Given the description of an element on the screen output the (x, y) to click on. 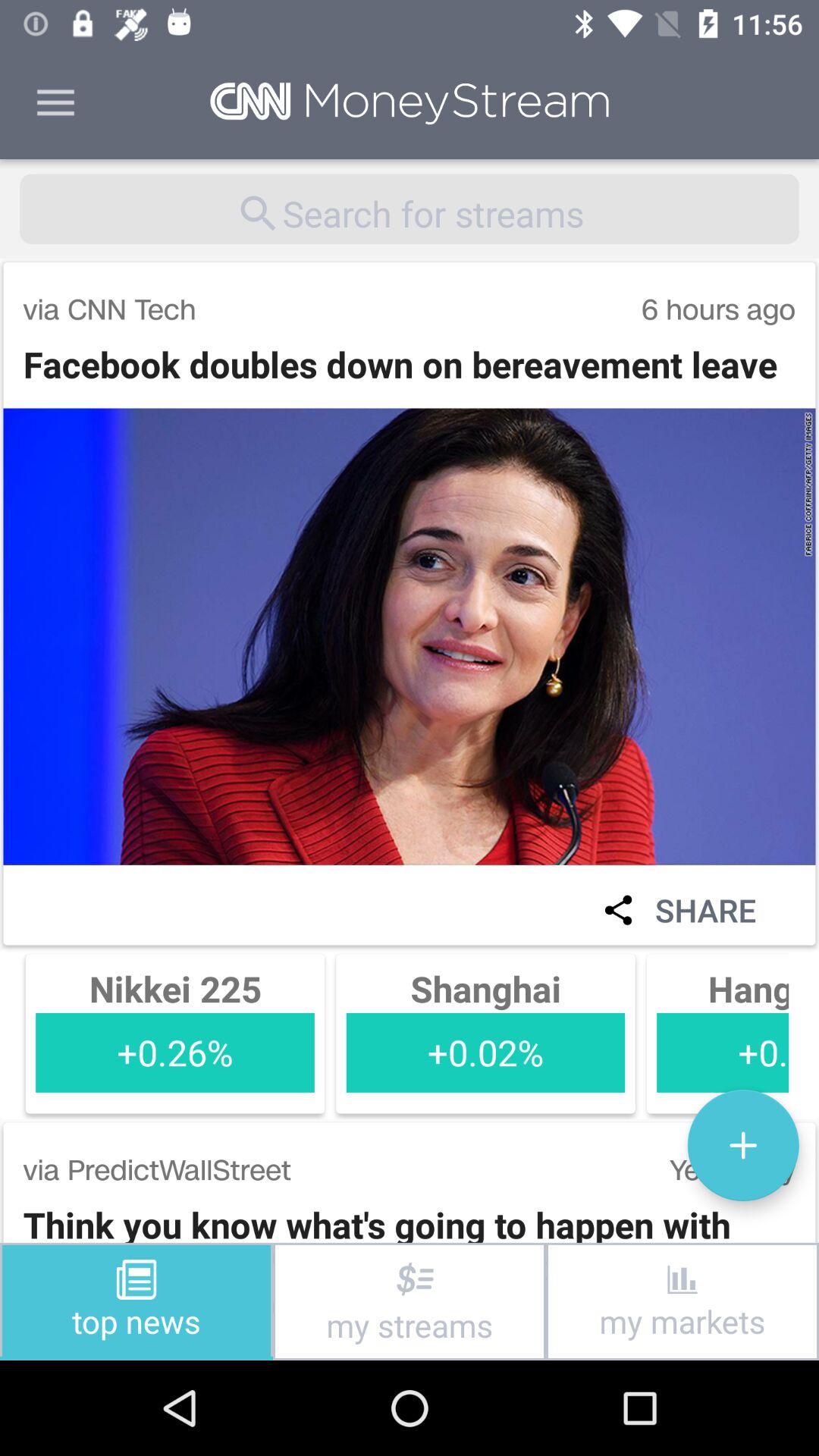
scale (743, 1145)
